Given the description of an element on the screen output the (x, y) to click on. 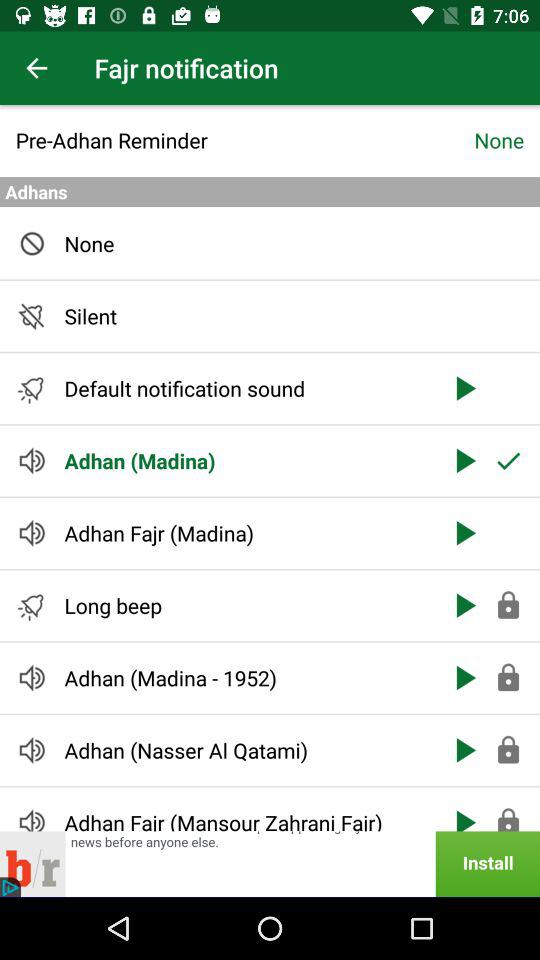
swipe to the adhans icon (270, 192)
